Given the description of an element on the screen output the (x, y) to click on. 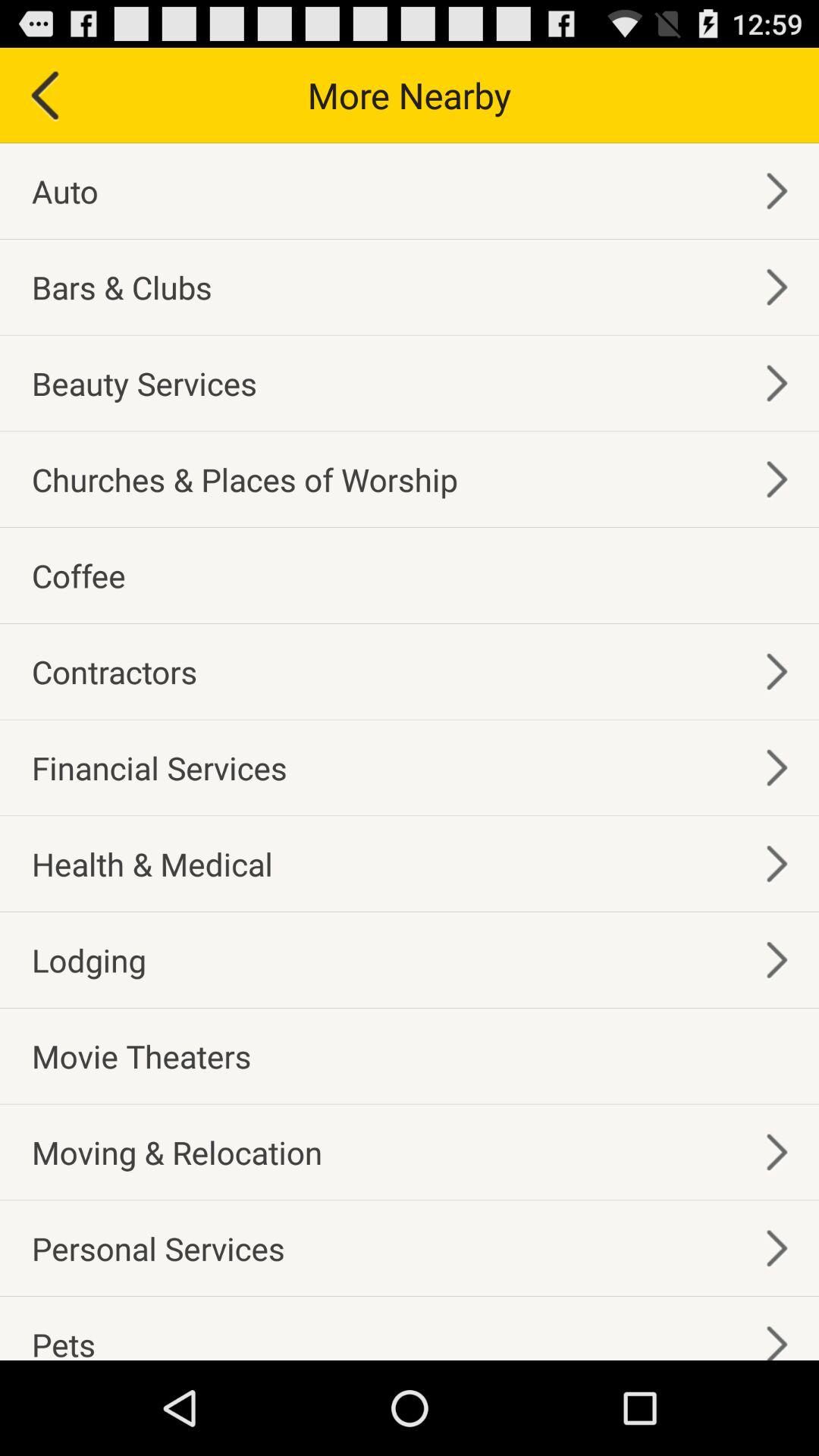
launch lodging app (88, 959)
